Given the description of an element on the screen output the (x, y) to click on. 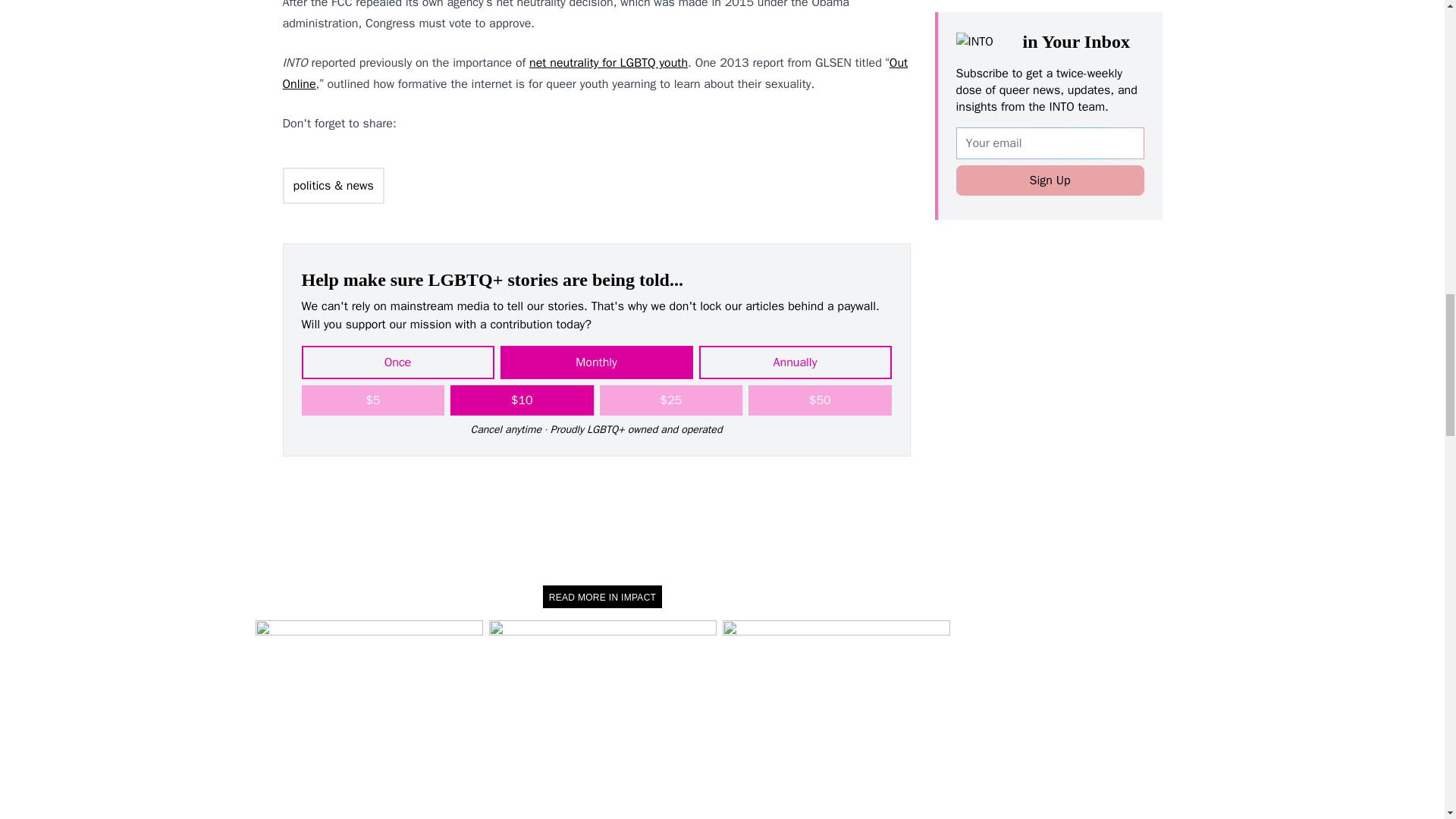
JD Vance roasted by Randy Rainbow in latest parody video (601, 719)
Out Online (594, 73)
net neutrality for LGBTQ youth (608, 62)
Sign Up (1048, 156)
